Given the description of an element on the screen output the (x, y) to click on. 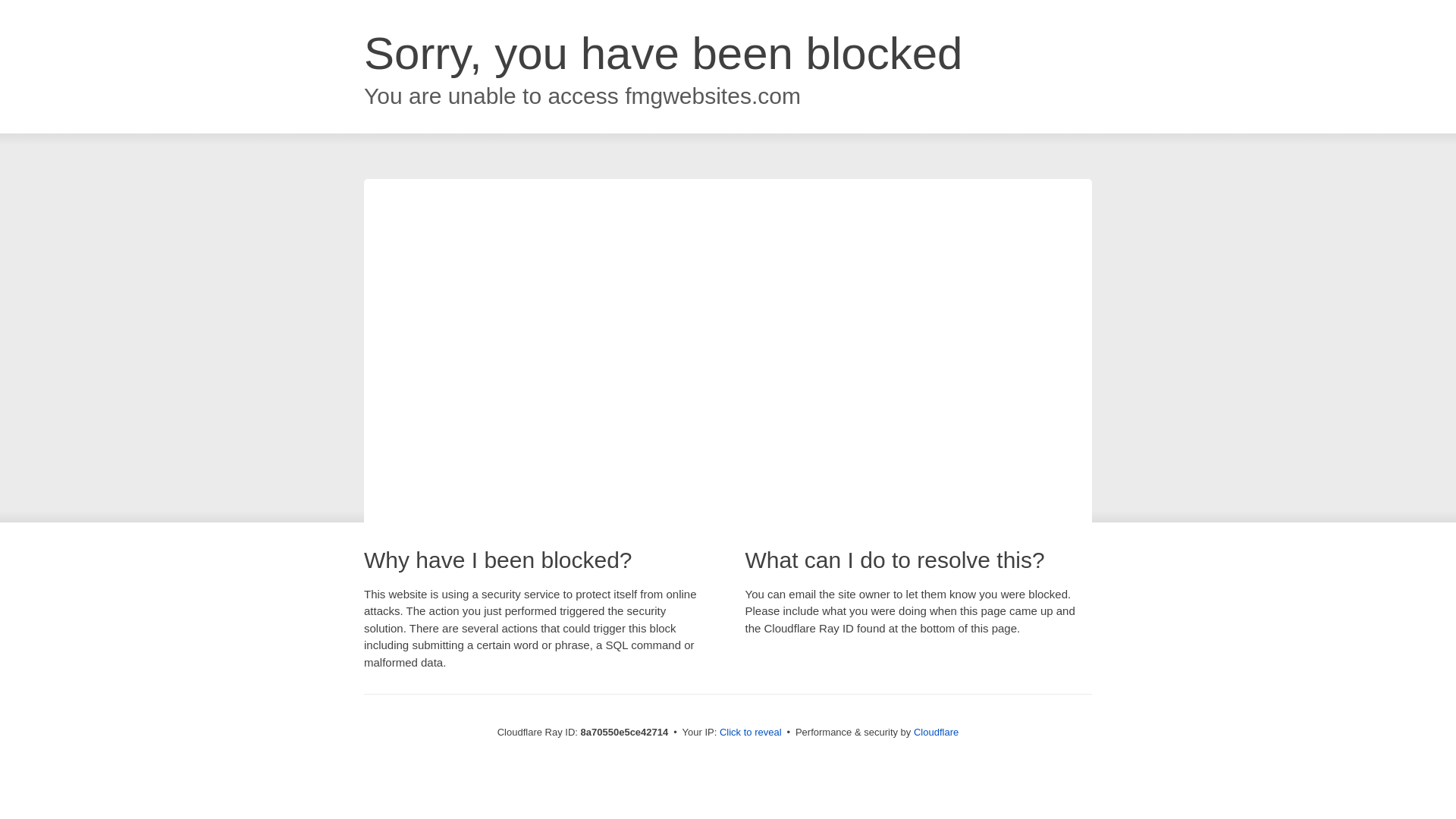
Cloudflare (936, 731)
Click to reveal (750, 732)
